Given the description of an element on the screen output the (x, y) to click on. 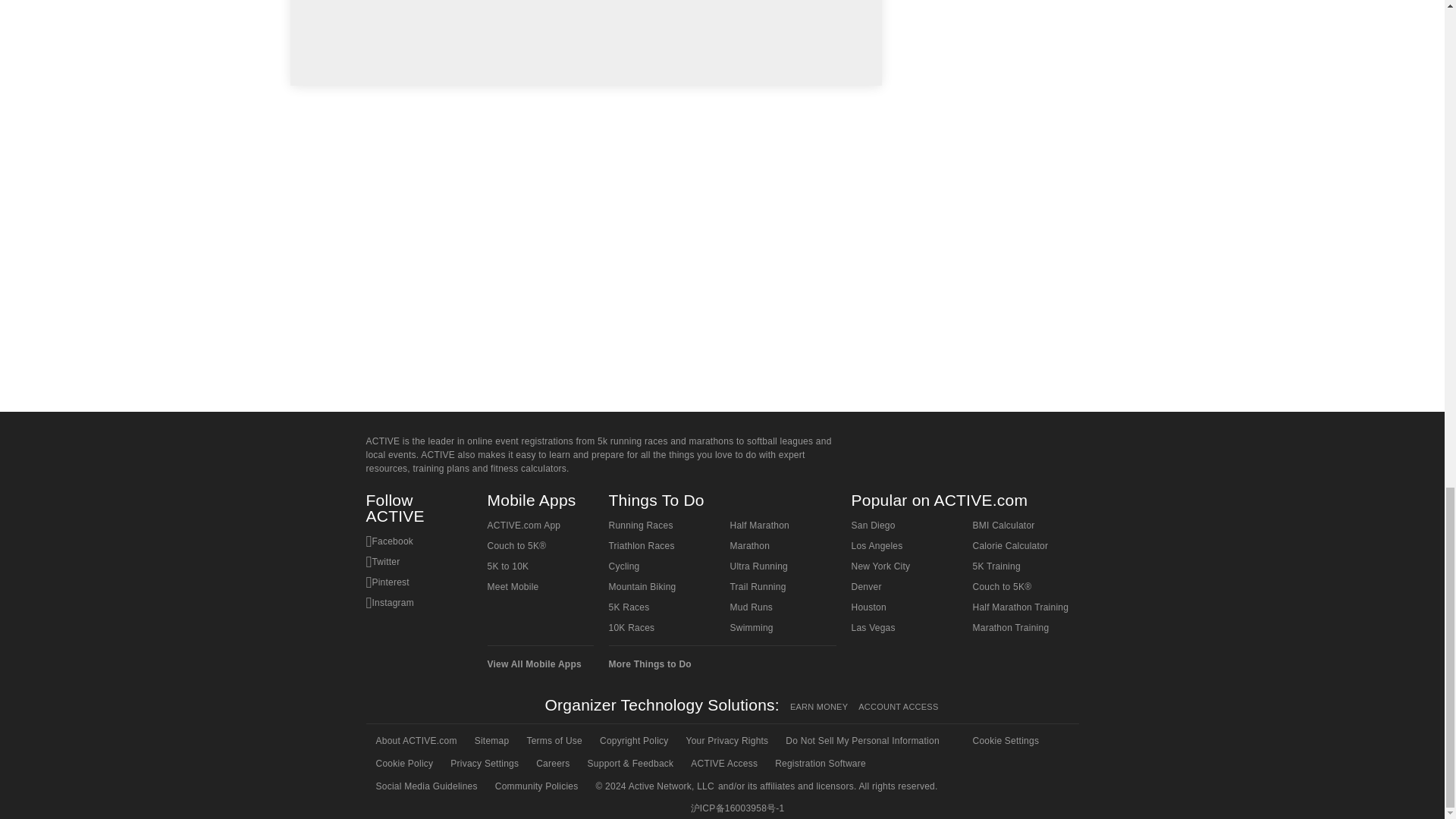
Privacy Settings (483, 763)
Copyright Policy (633, 740)
Careers at Active (550, 763)
Cookie Policy (403, 763)
Your Privacy Rights: Updated (726, 740)
Terms of Use (552, 740)
Do Not Sell My Personal Information (861, 740)
